Given the description of an element on the screen output the (x, y) to click on. 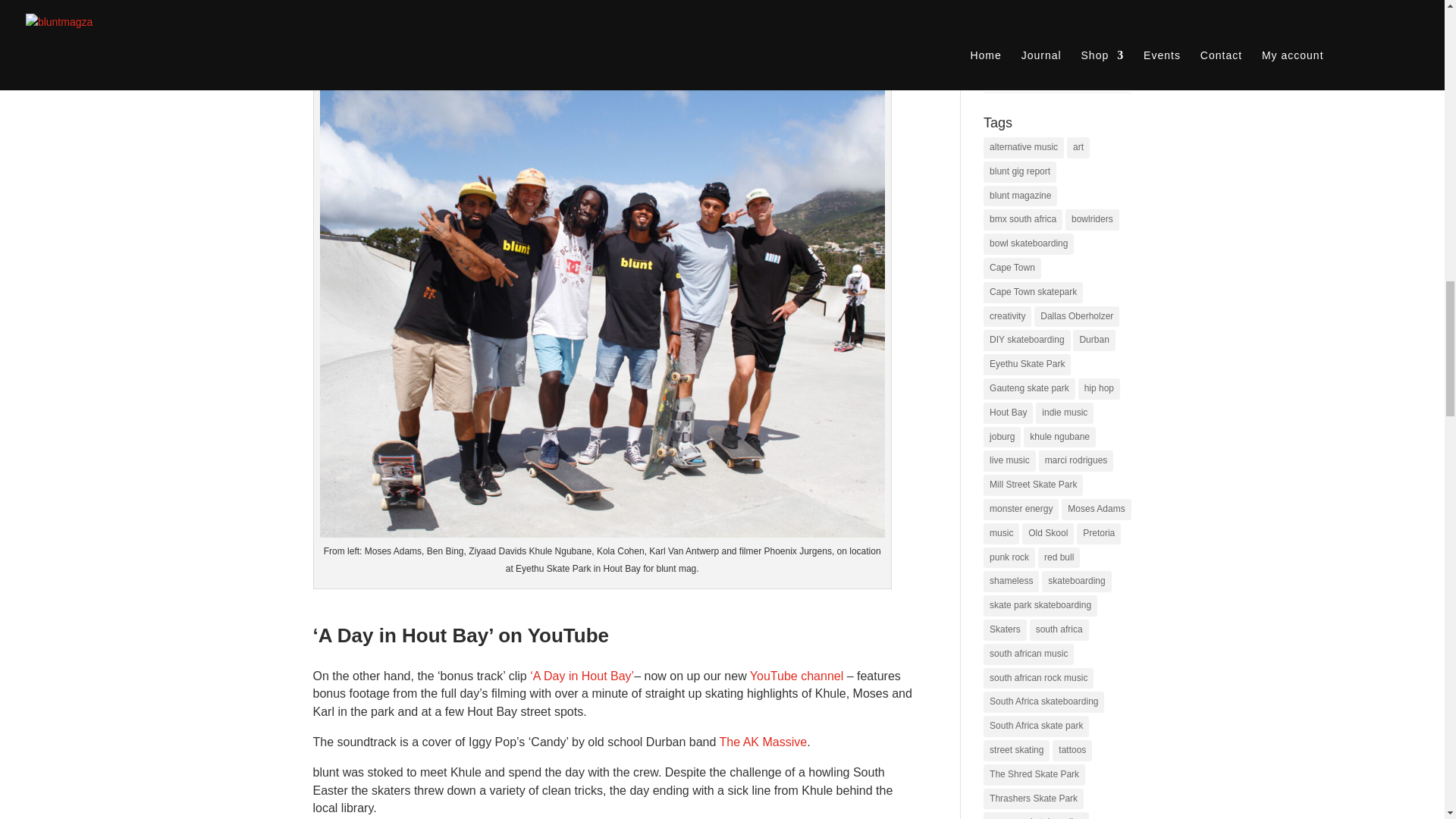
YouTube channel (796, 675)
blunt segment (442, 56)
KVLO (770, 8)
The AK Massive (763, 741)
West Coast Wolves (604, 17)
